Given the description of an element on the screen output the (x, y) to click on. 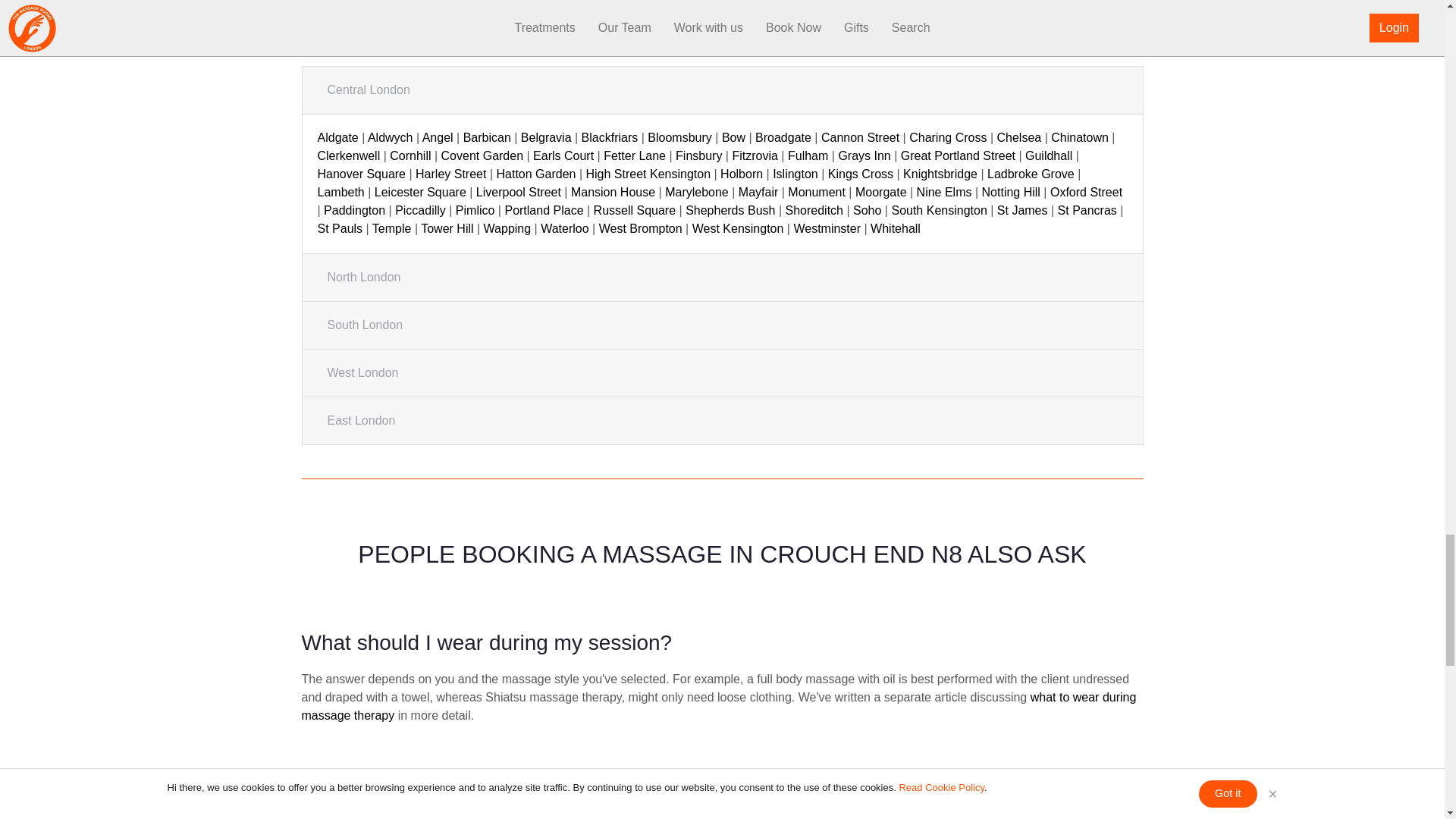
Broadgate (782, 137)
Charing Cross (947, 137)
Clerkenwell (348, 155)
Cornhill (410, 155)
Aldwych (390, 137)
Chinatown (1079, 137)
Bow (733, 137)
Aldgate (337, 137)
Massage in Aldgate (337, 137)
Belgravia (546, 137)
Cannon Street (860, 137)
Massage in Barbican (487, 137)
Blackfriars (609, 137)
Massage in Blackfriars (609, 137)
Bloomsbury (679, 137)
